Given the description of an element on the screen output the (x, y) to click on. 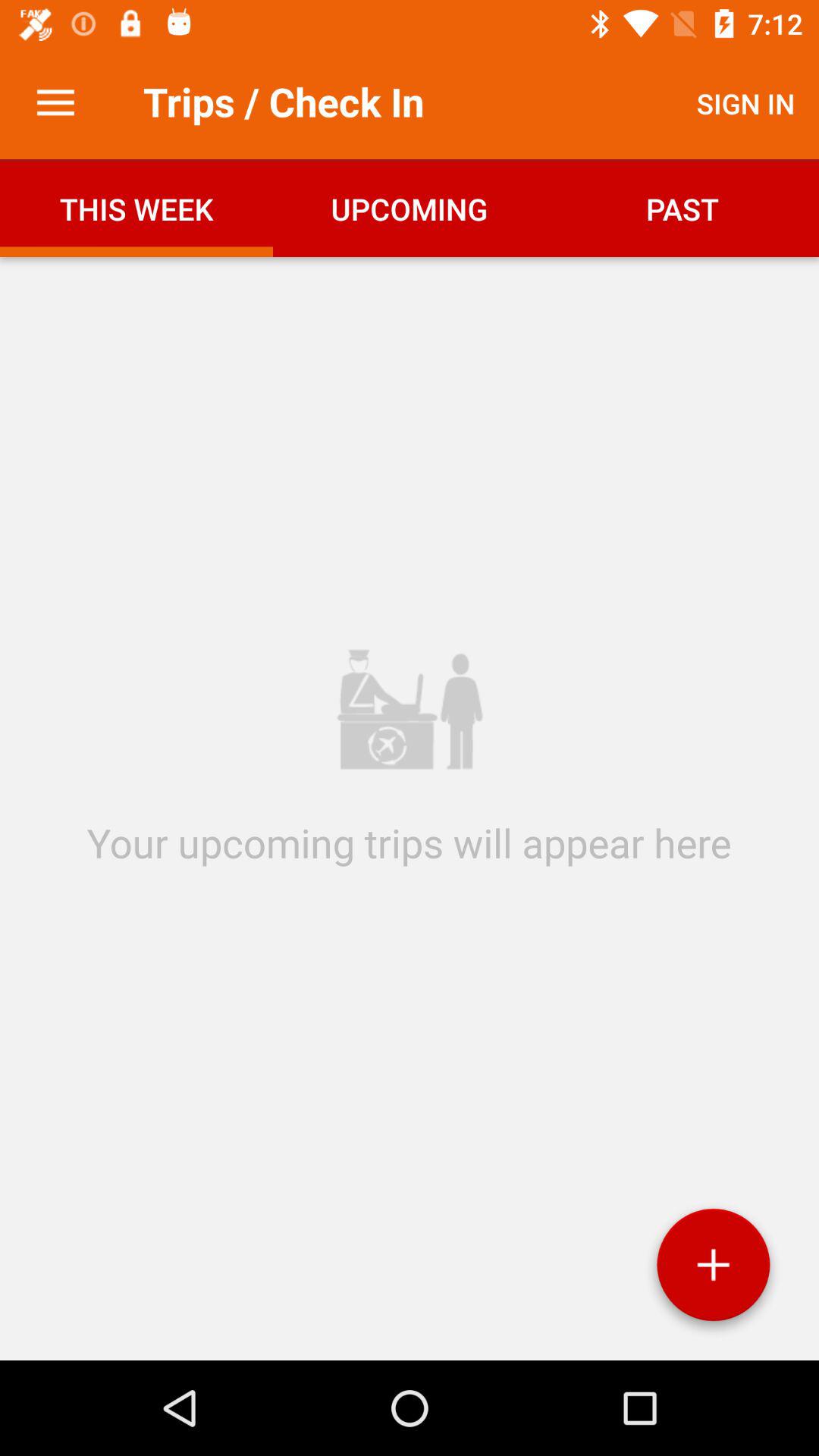
open sign in item (745, 103)
